Given the description of an element on the screen output the (x, y) to click on. 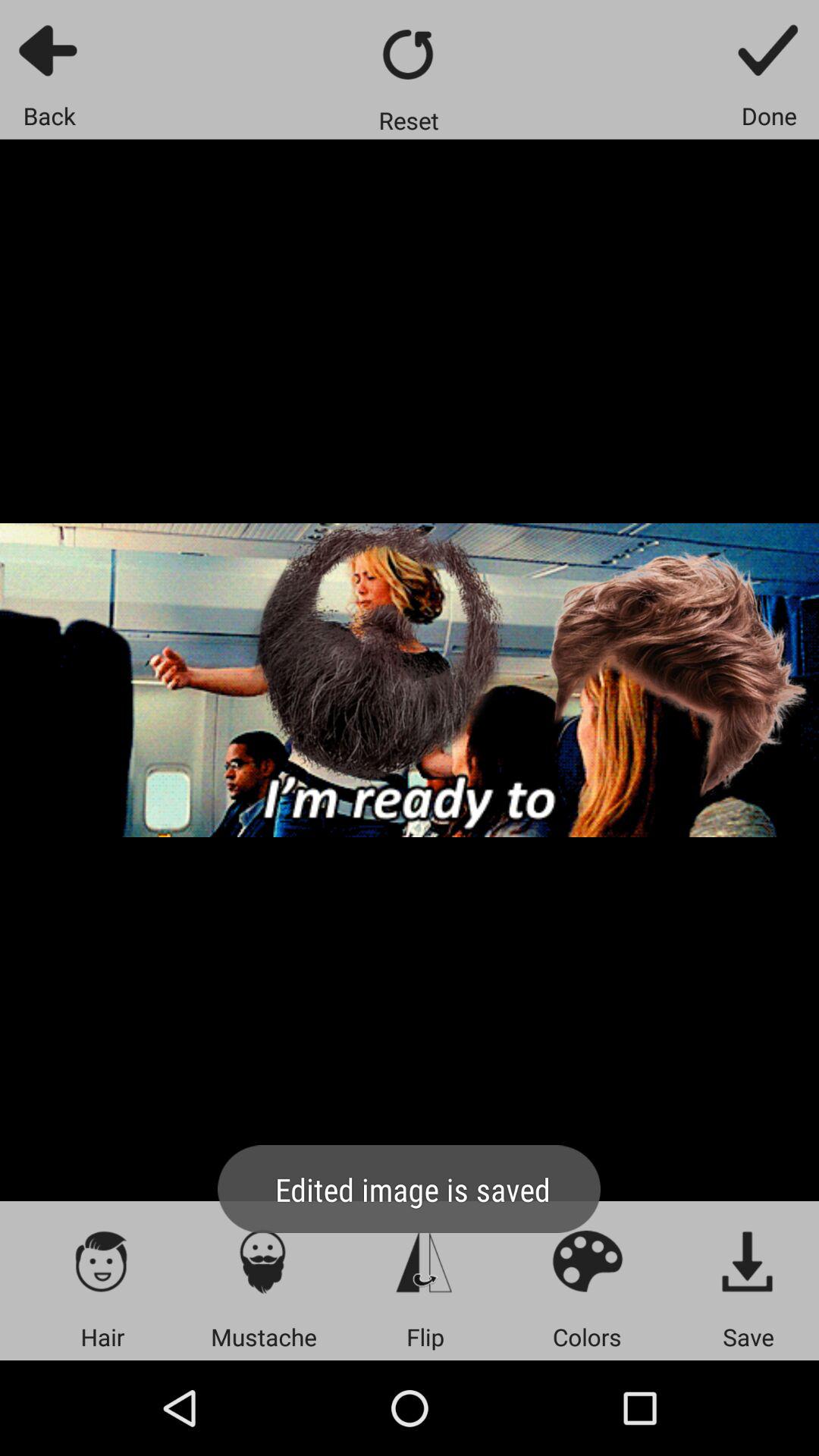
colors (586, 1260)
